Given the description of an element on the screen output the (x, y) to click on. 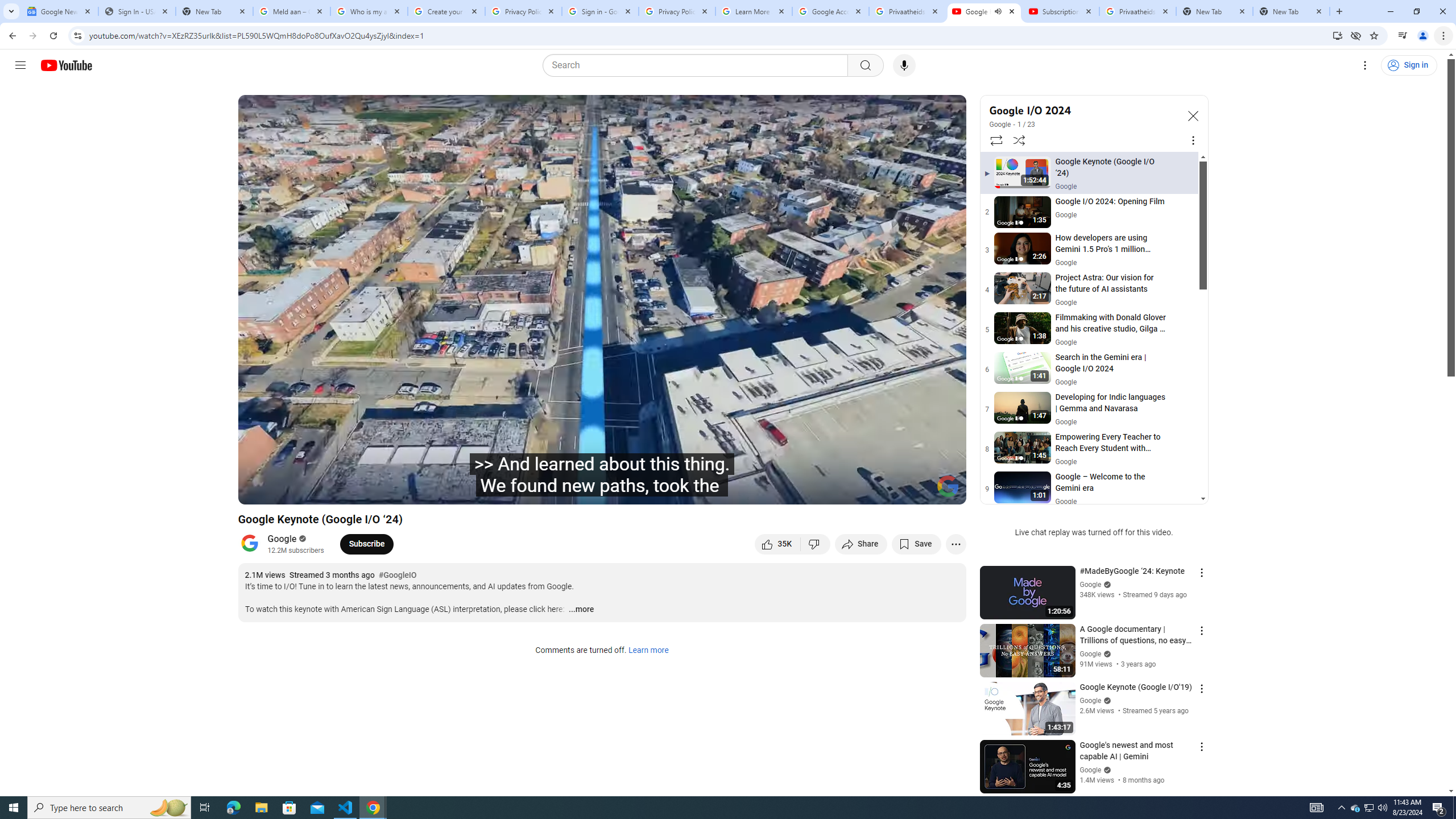
Collapse (1192, 115)
Save to playlist (915, 543)
...more (580, 609)
